Given the description of an element on the screen output the (x, y) to click on. 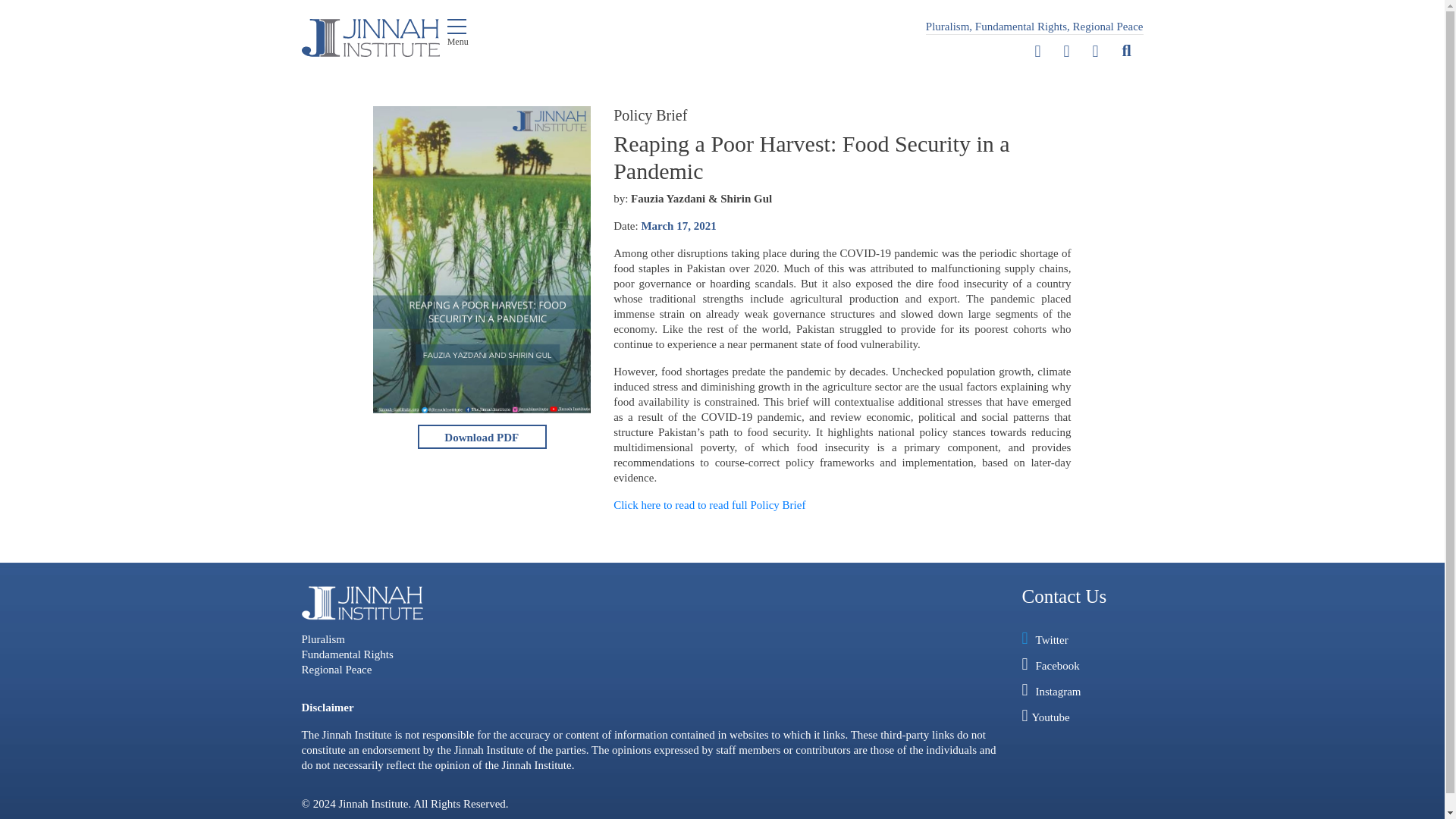
Covid and Food Fauzia Yazdani (482, 436)
Click here to read to read full Policy Brief (708, 504)
Instagram (1095, 51)
Instagram (1095, 51)
Twitter (1038, 51)
Twitter (1038, 51)
Facebook (1067, 51)
Covid and Food Fauzia Yazdani (482, 436)
Facebook (1067, 51)
